Given the description of an element on the screen output the (x, y) to click on. 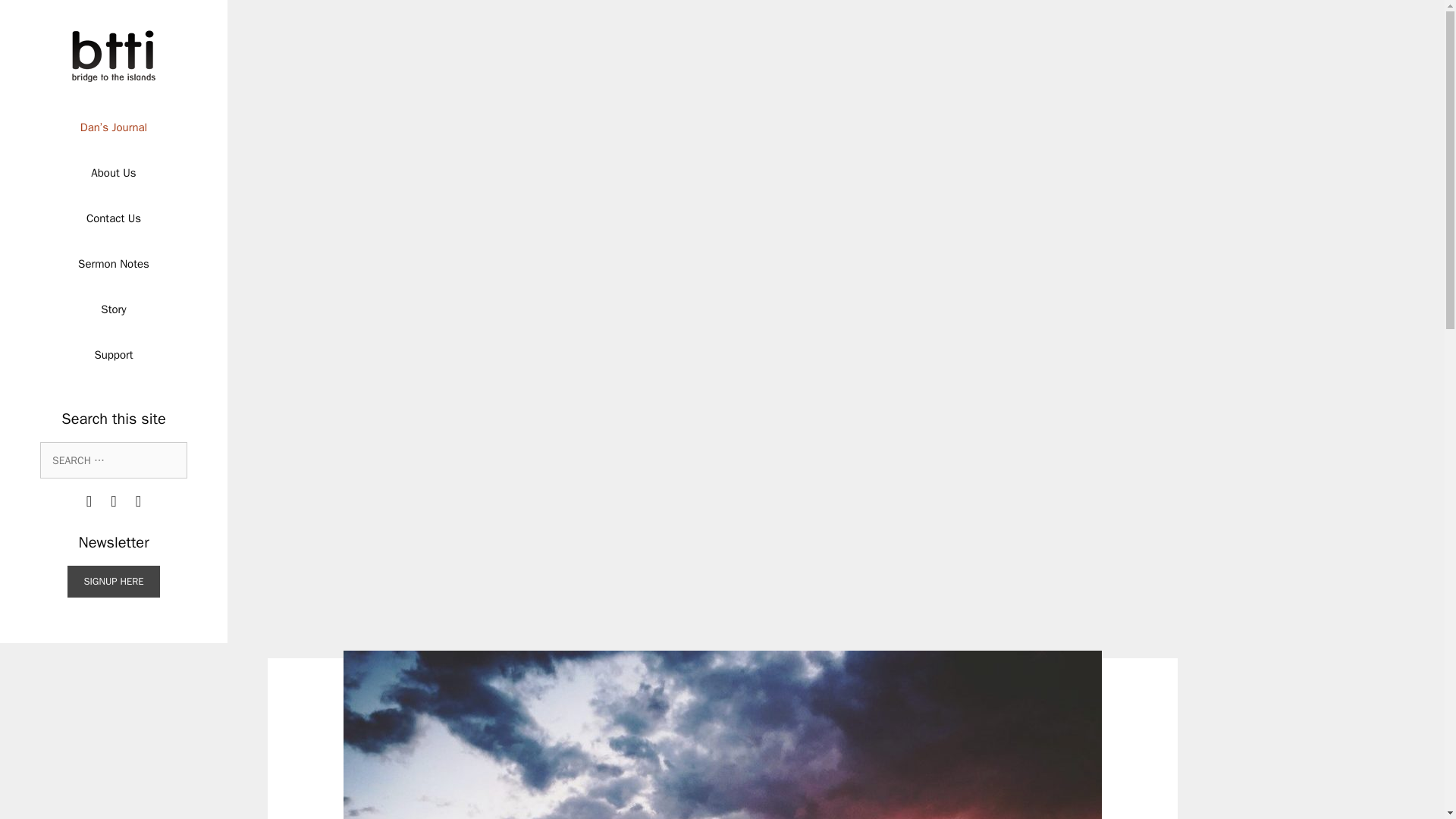
Search (33, 15)
Bridge to the Islands (113, 55)
Support (113, 354)
About Us (113, 172)
SIGNUP HERE (112, 581)
Search for: (113, 460)
Bridge to the Islands (113, 54)
Story (113, 309)
Contact Us (113, 217)
Sermon Notes (113, 263)
